Given the description of an element on the screen output the (x, y) to click on. 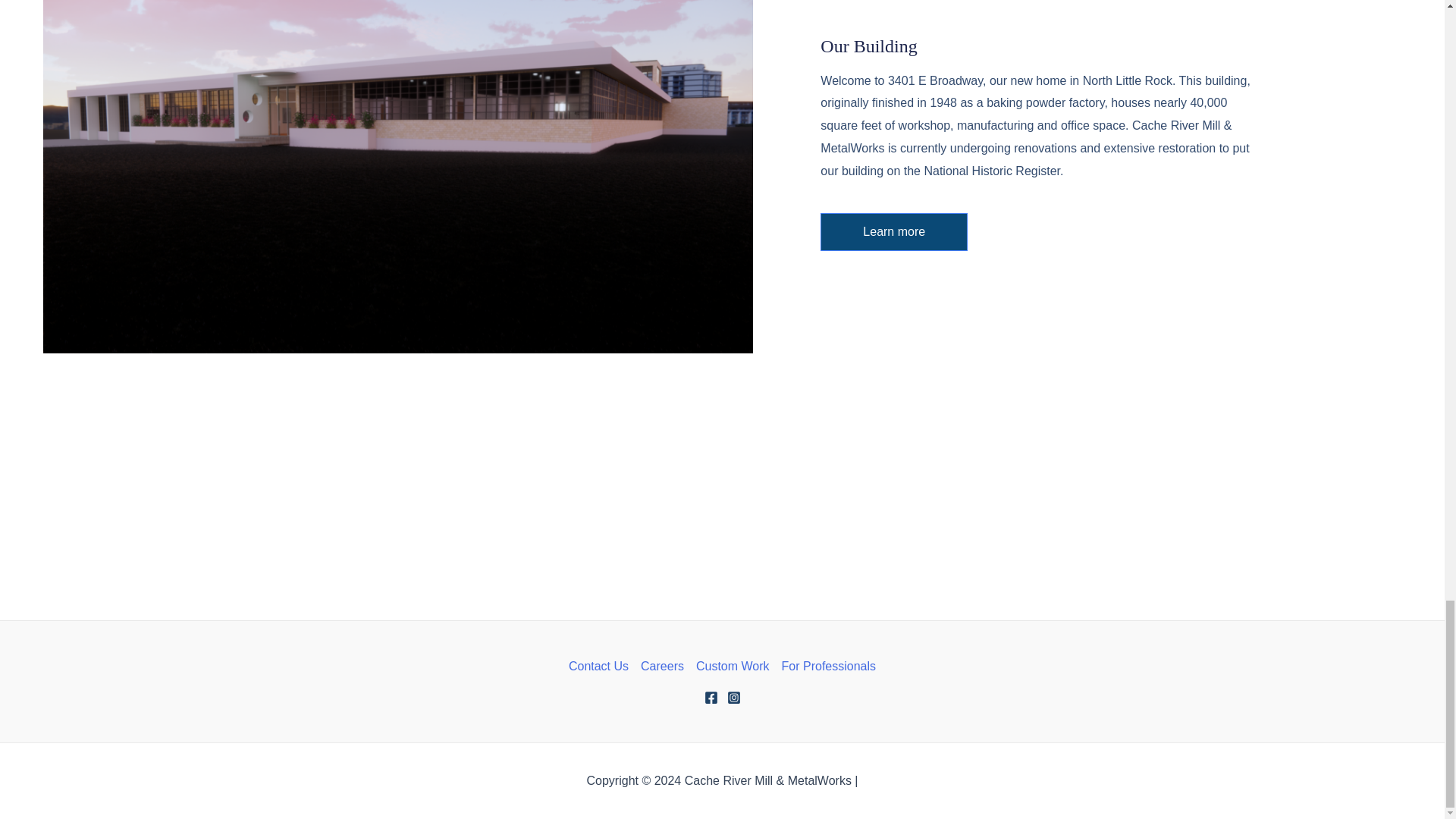
For Professionals (826, 666)
Learn more (894, 231)
Careers (662, 666)
Custom Work (733, 666)
Contact Us (601, 666)
